Given the description of an element on the screen output the (x, y) to click on. 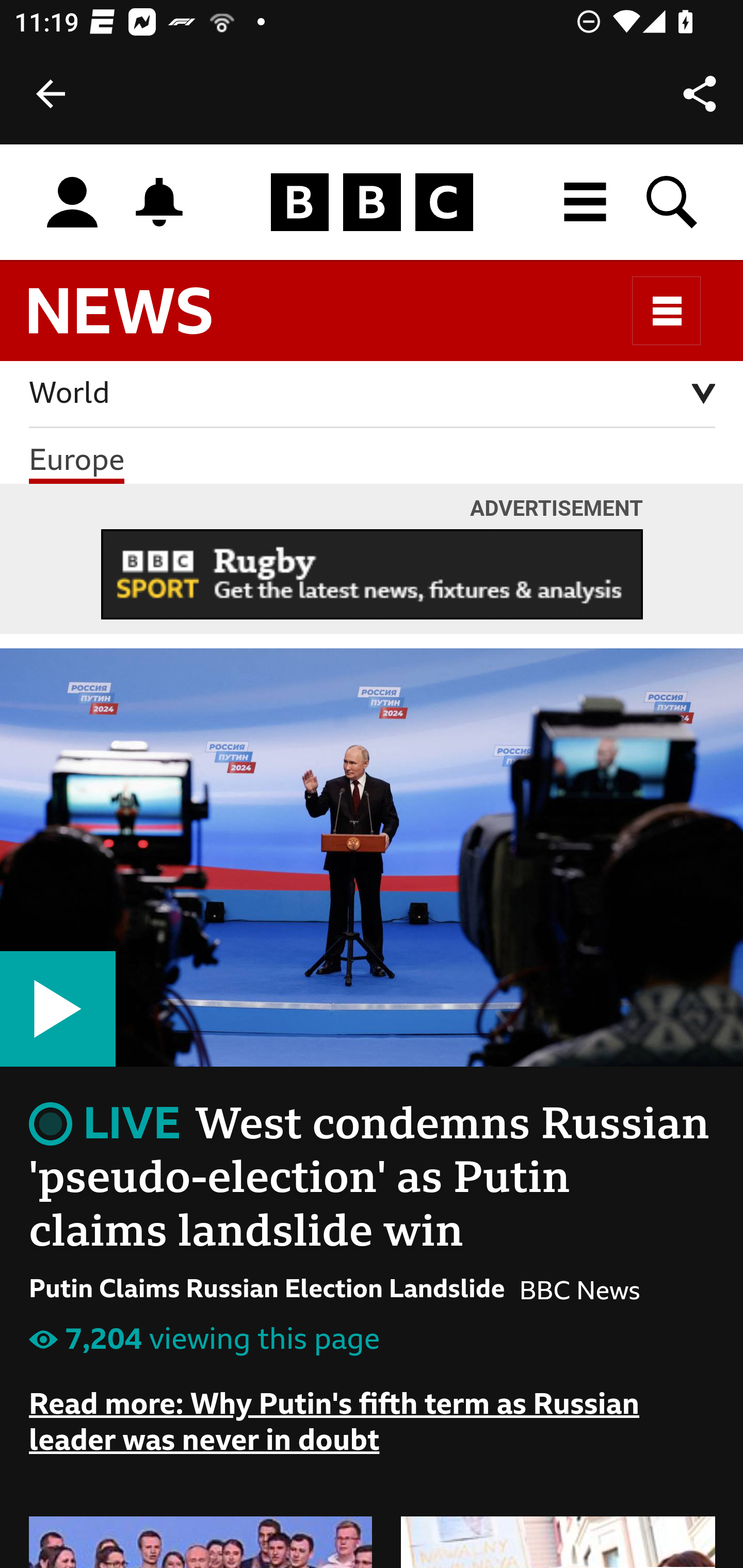
Back (50, 93)
Share (699, 93)
